Given the description of an element on the screen output the (x, y) to click on. 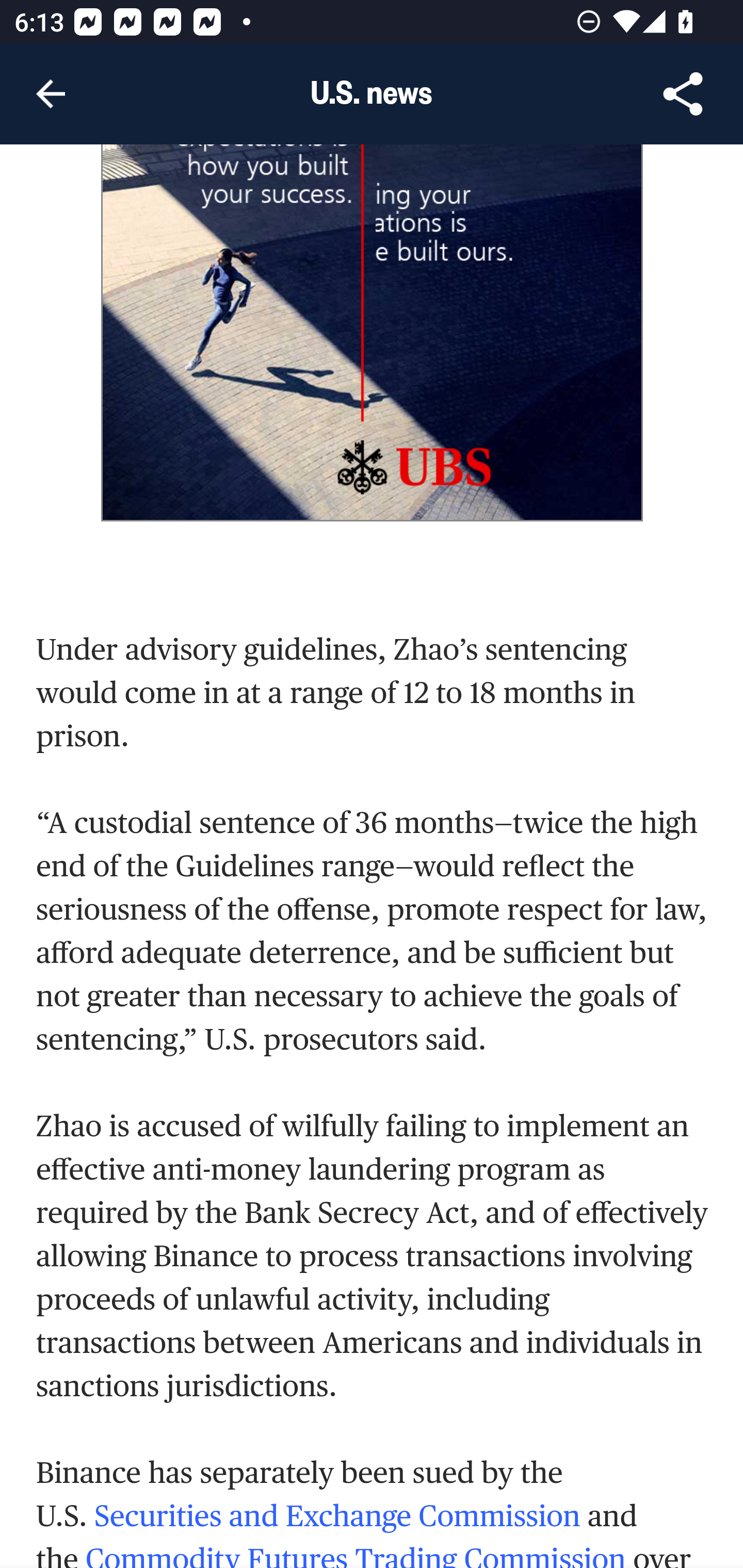
Navigate up (50, 93)
Share Article, button (683, 94)
Securities and Exchange Commission (337, 1517)
Commodity Futures Trading Commission (355, 1554)
